Given the description of an element on the screen output the (x, y) to click on. 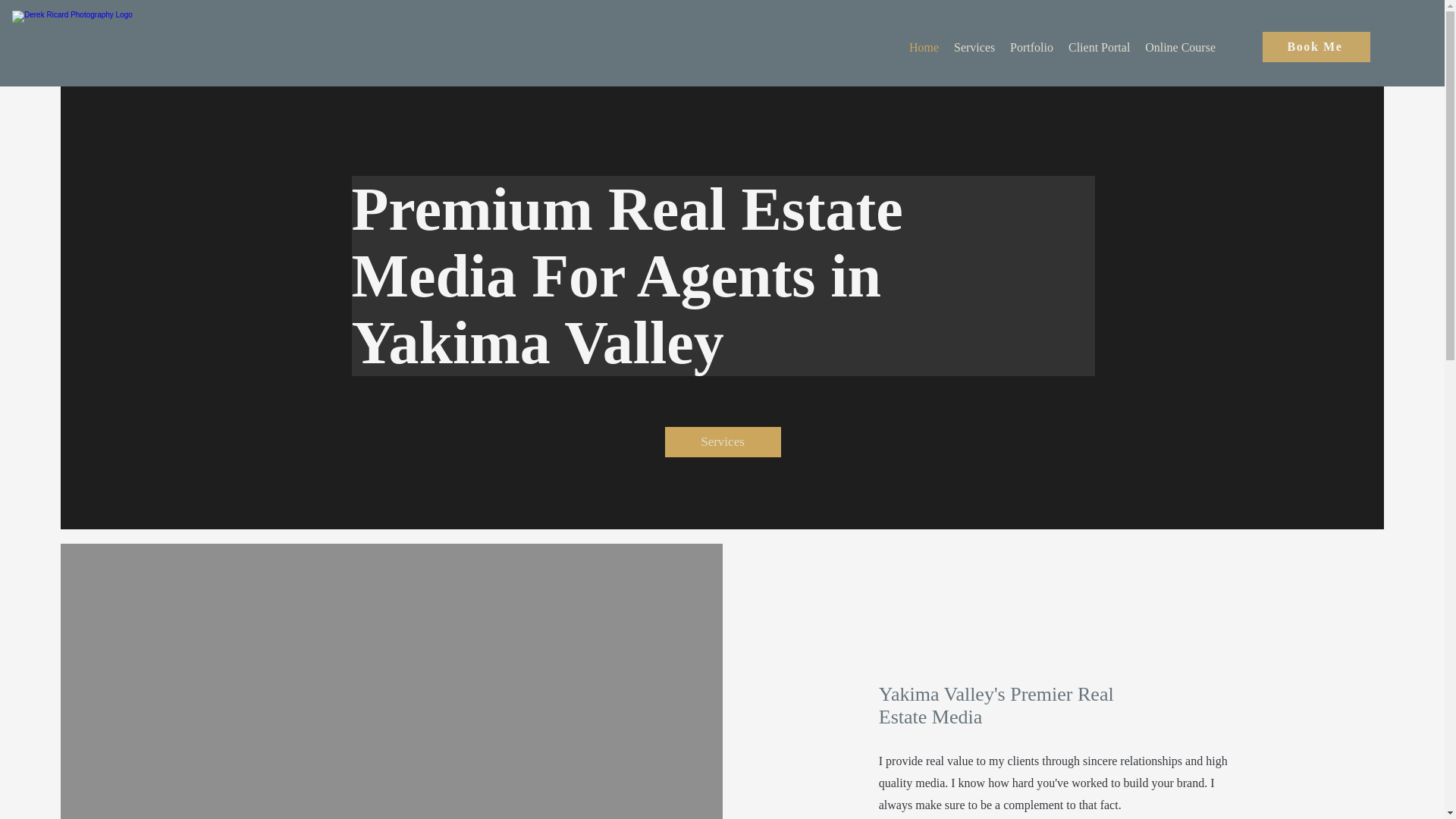
Book Me (1316, 46)
Services (721, 441)
Services (974, 47)
Online Course (1180, 47)
Client Portal (1099, 47)
Portfolio (1032, 47)
Home (923, 47)
